Given the description of an element on the screen output the (x, y) to click on. 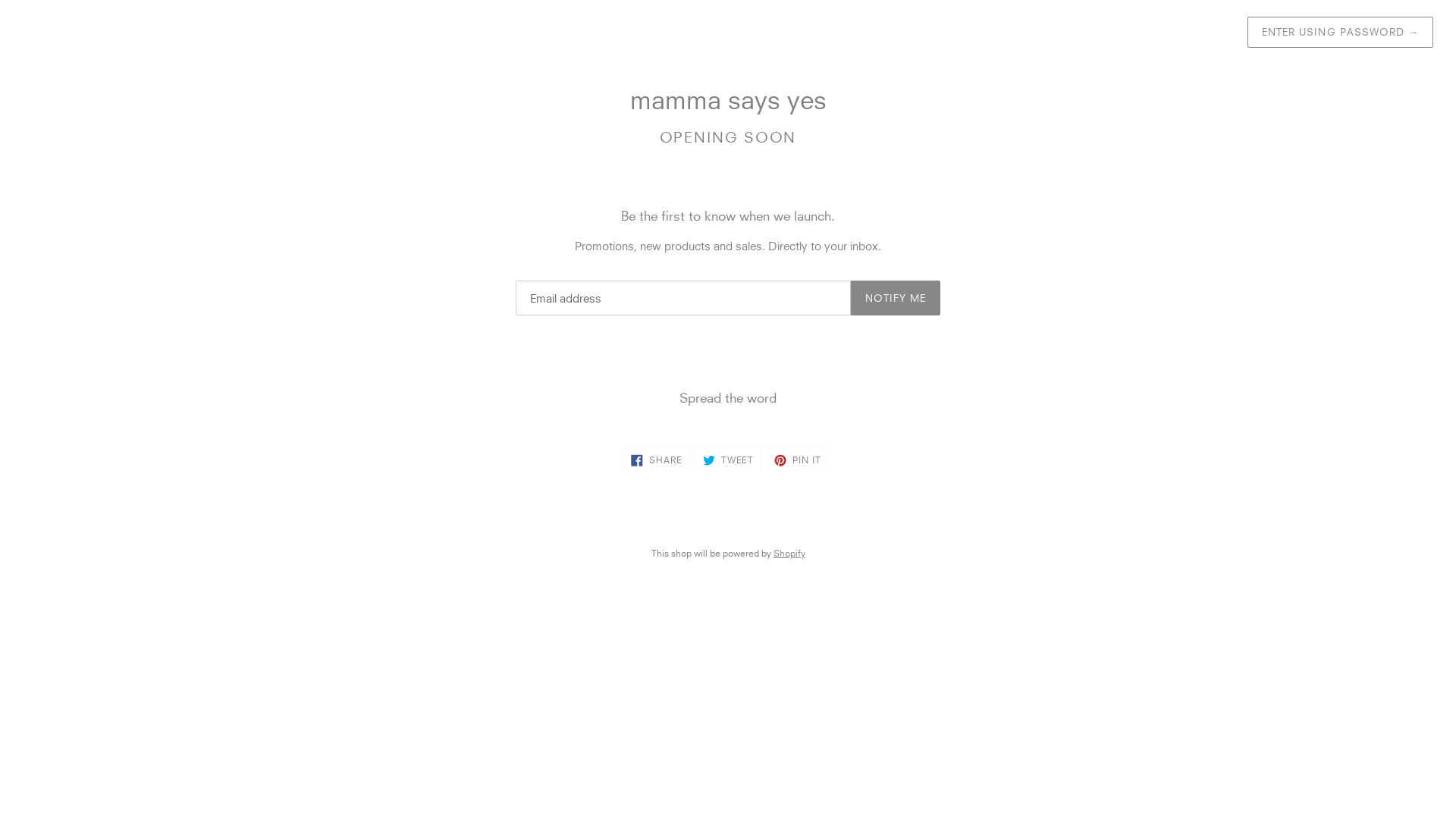
PIN IT
PIN ON PINTEREST Element type: text (797, 460)
TWEET
TWEET ON TWITTER Element type: text (728, 460)
NOTIFY ME Element type: text (895, 297)
SHARE
SHARE ON FACEBOOK Element type: text (656, 460)
Shopify Element type: text (789, 552)
